Given the description of an element on the screen output the (x, y) to click on. 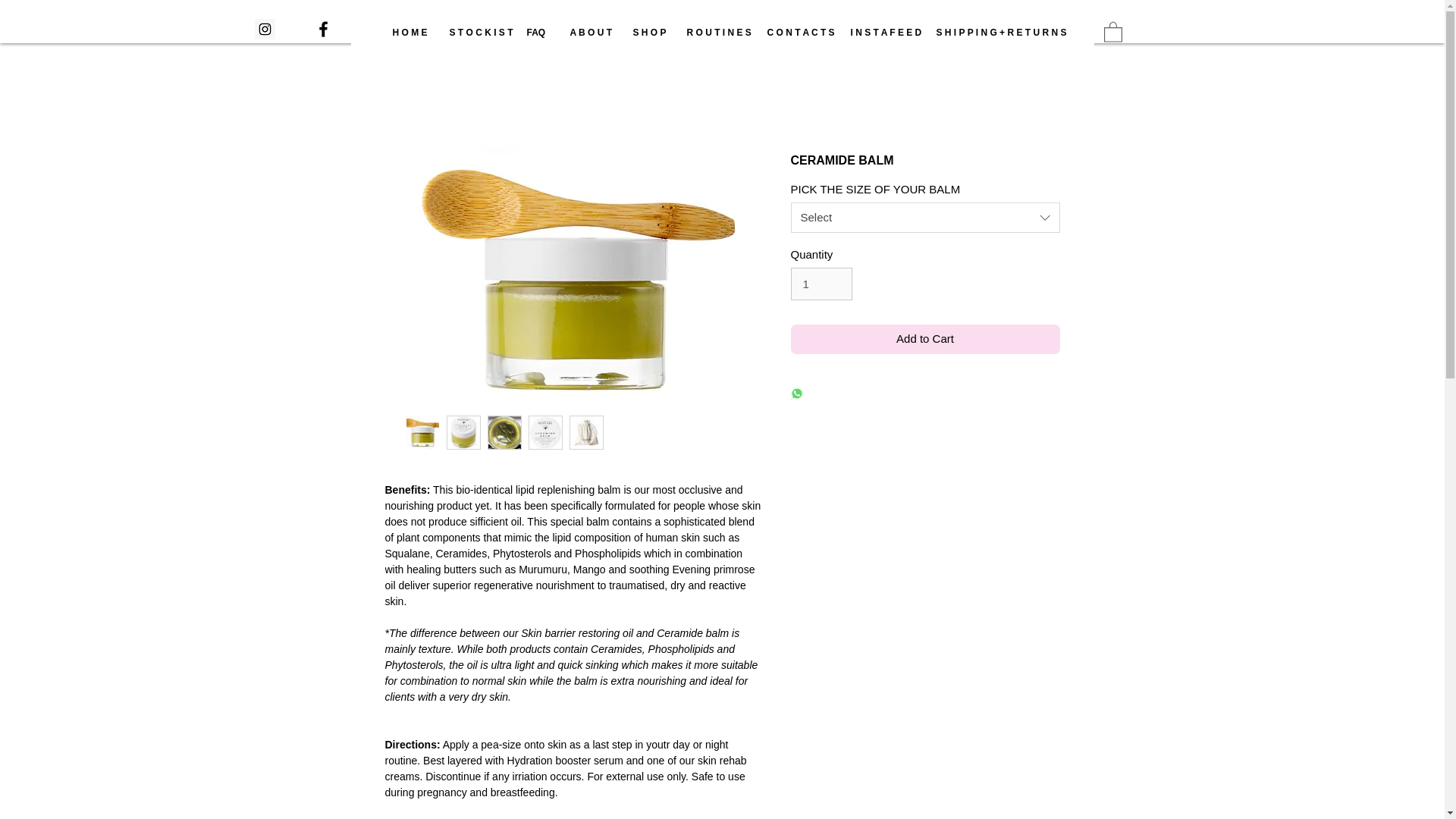
Pin to Pinterest (500, 153)
Add to Cart (924, 338)
C O N T A C T S (796, 33)
A B O U T (589, 33)
Pin to Pinterest (500, 377)
S H O P (648, 33)
FAQ (537, 33)
H O M E (409, 33)
R O U T I N E S (715, 33)
S T O C K I S T (476, 33)
